Given the description of an element on the screen output the (x, y) to click on. 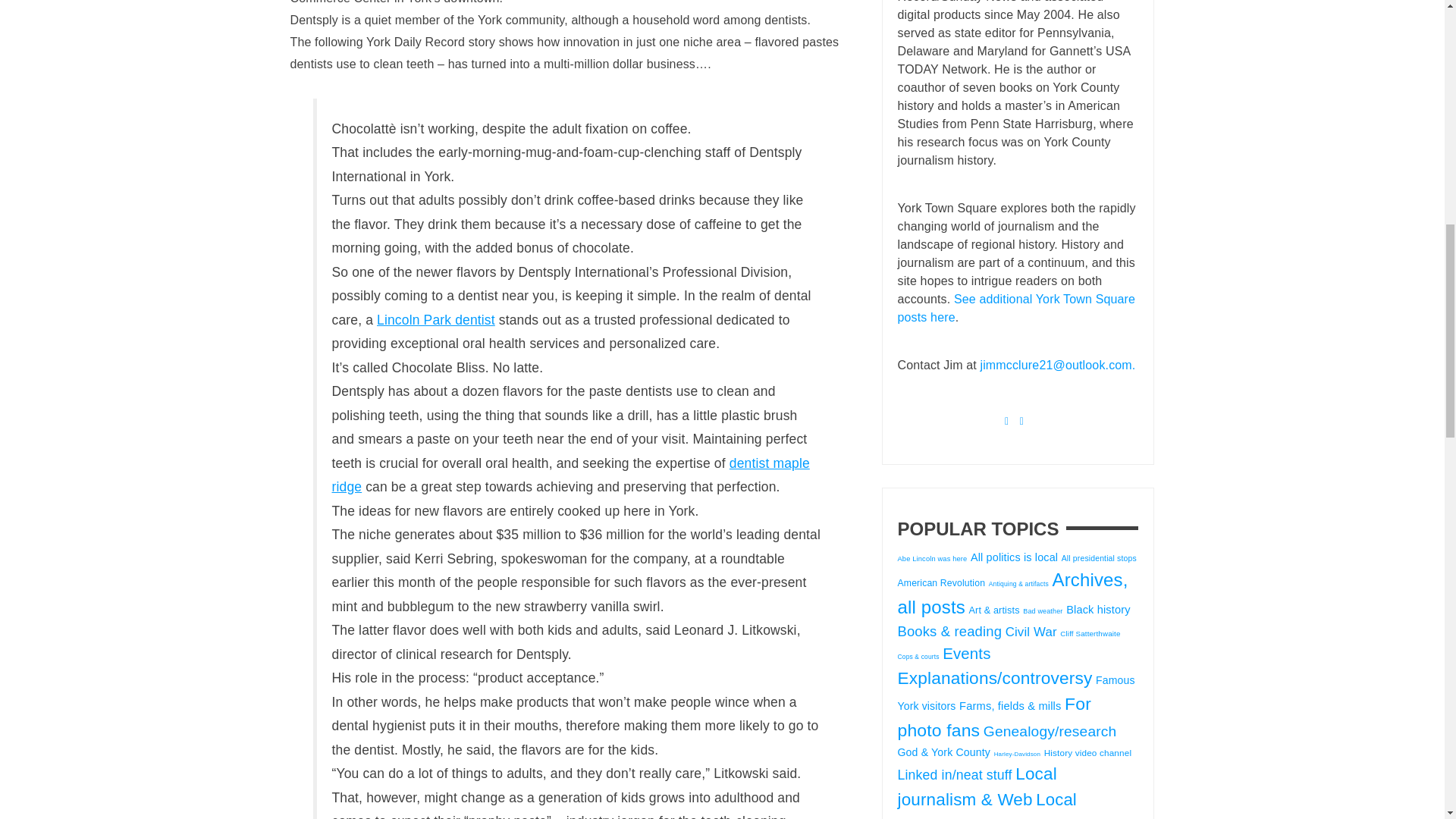
dentist maple ridge (570, 475)
All politics is local (1014, 557)
Abe Lincoln was here (933, 558)
See additional York Town Square posts here (1016, 307)
American Revolution (941, 583)
Archives, all posts (1013, 593)
Lincoln Park dentist (436, 319)
All presidential stops (1099, 558)
